Given the description of an element on the screen output the (x, y) to click on. 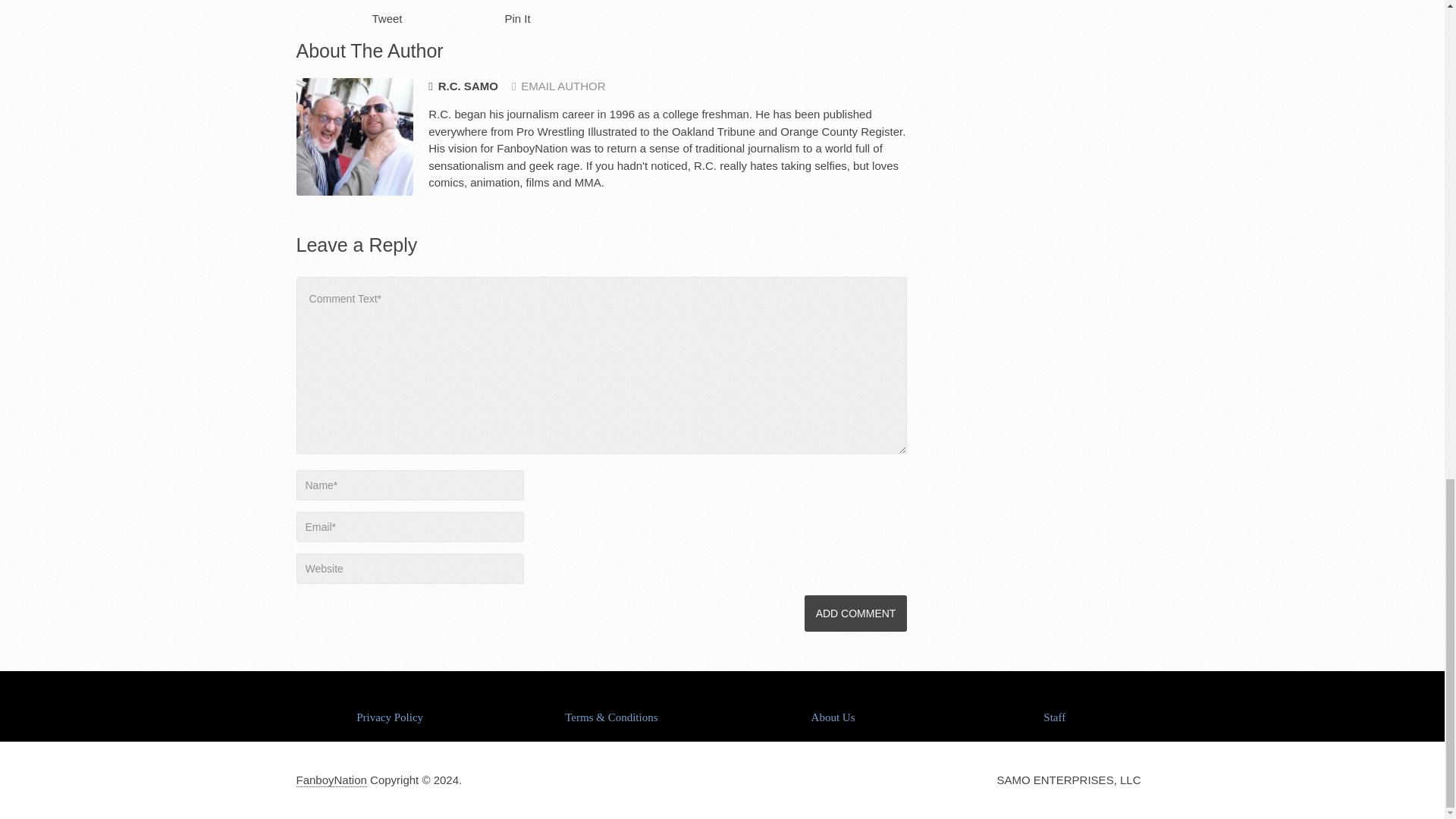
Add Comment (856, 613)
Tweet (386, 18)
R.C. SAMO (462, 86)
Pin It (518, 18)
Add Comment (856, 613)
EMAIL AUTHOR (558, 85)
